Given the description of an element on the screen output the (x, y) to click on. 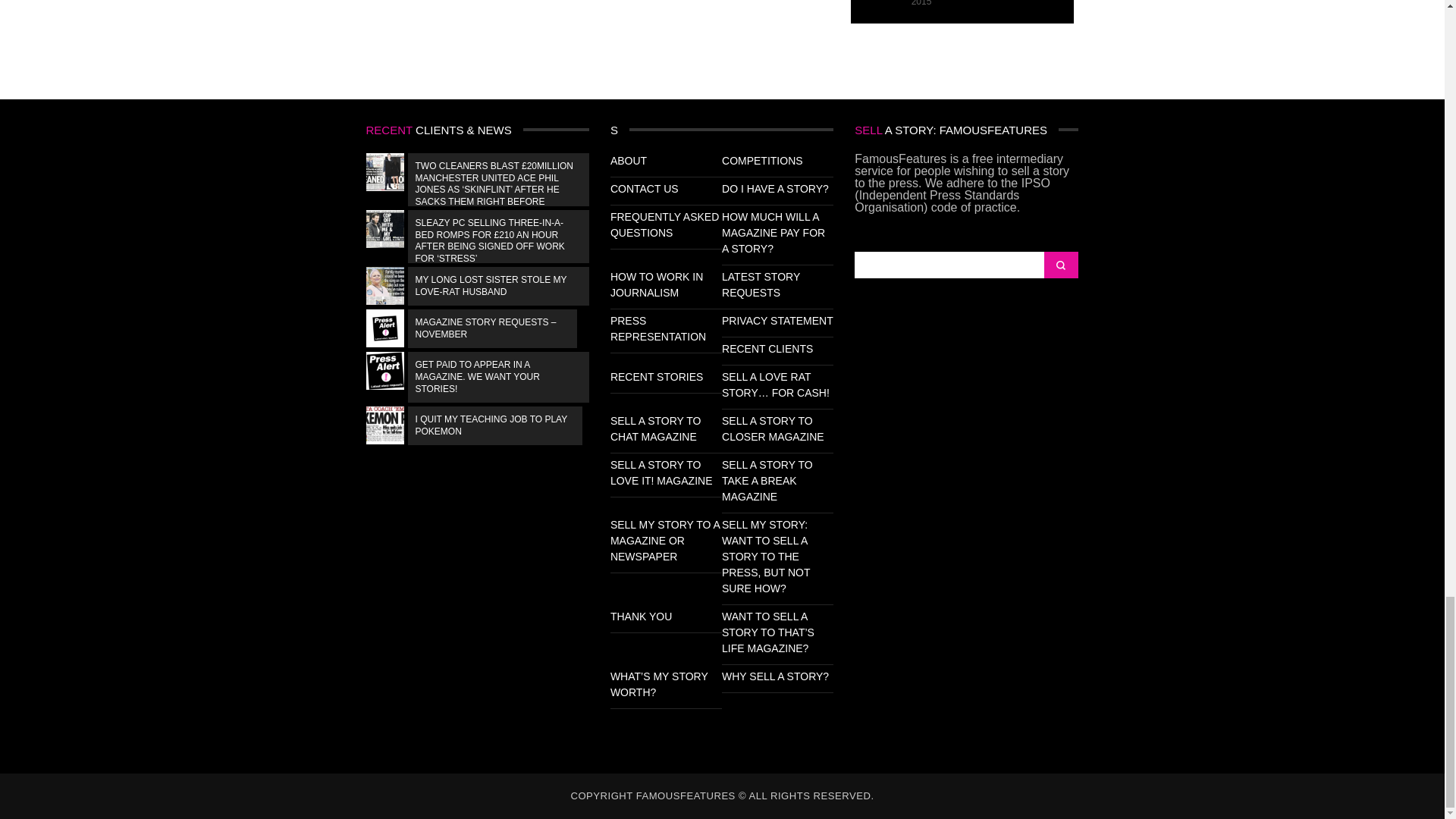
Search (1060, 264)
